Given the description of an element on the screen output the (x, y) to click on. 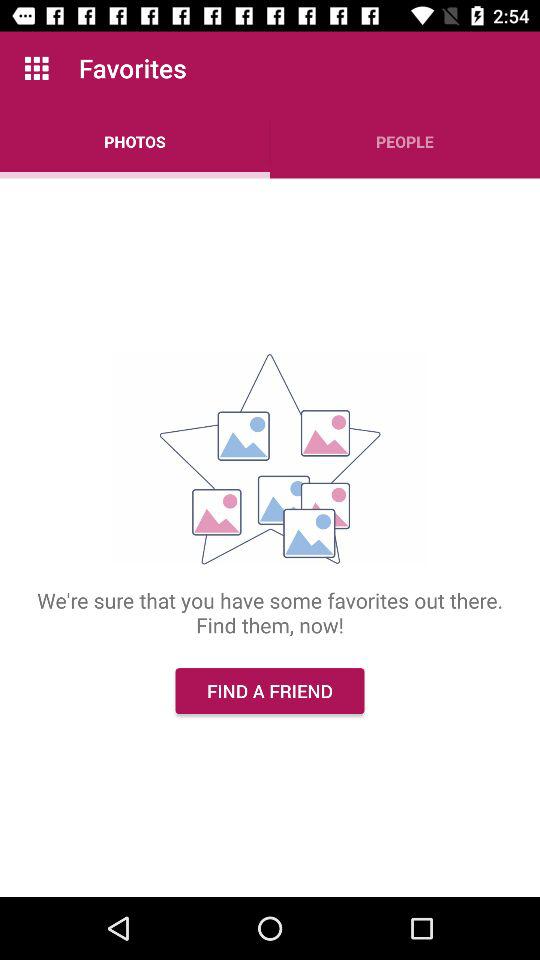
press icon below we re sure (269, 690)
